Given the description of an element on the screen output the (x, y) to click on. 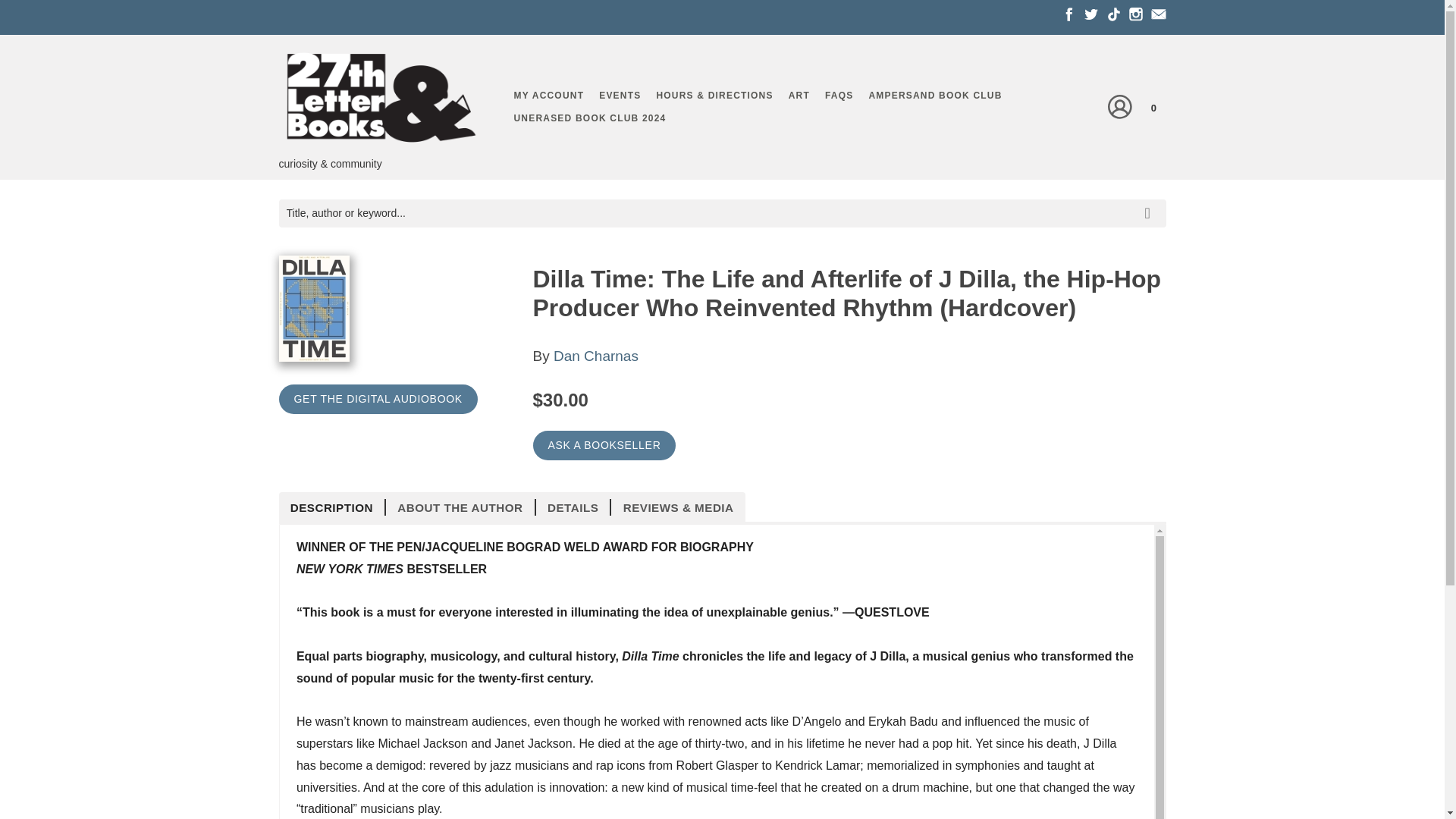
search (1150, 201)
ART (798, 95)
MY ACCOUNT (549, 95)
UNERASED BOOK CLUB 2024 (590, 118)
FAQS (838, 95)
ABOUT THE AUTHOR (460, 506)
DETAILS (573, 506)
AMPERSAND BOOK CLUB (934, 95)
Ask a Bookseller (603, 445)
search (1150, 201)
Home (381, 100)
Dan Charnas (596, 355)
Ask a Bookseller (603, 445)
DESCRIPTION (333, 506)
